Given the description of an element on the screen output the (x, y) to click on. 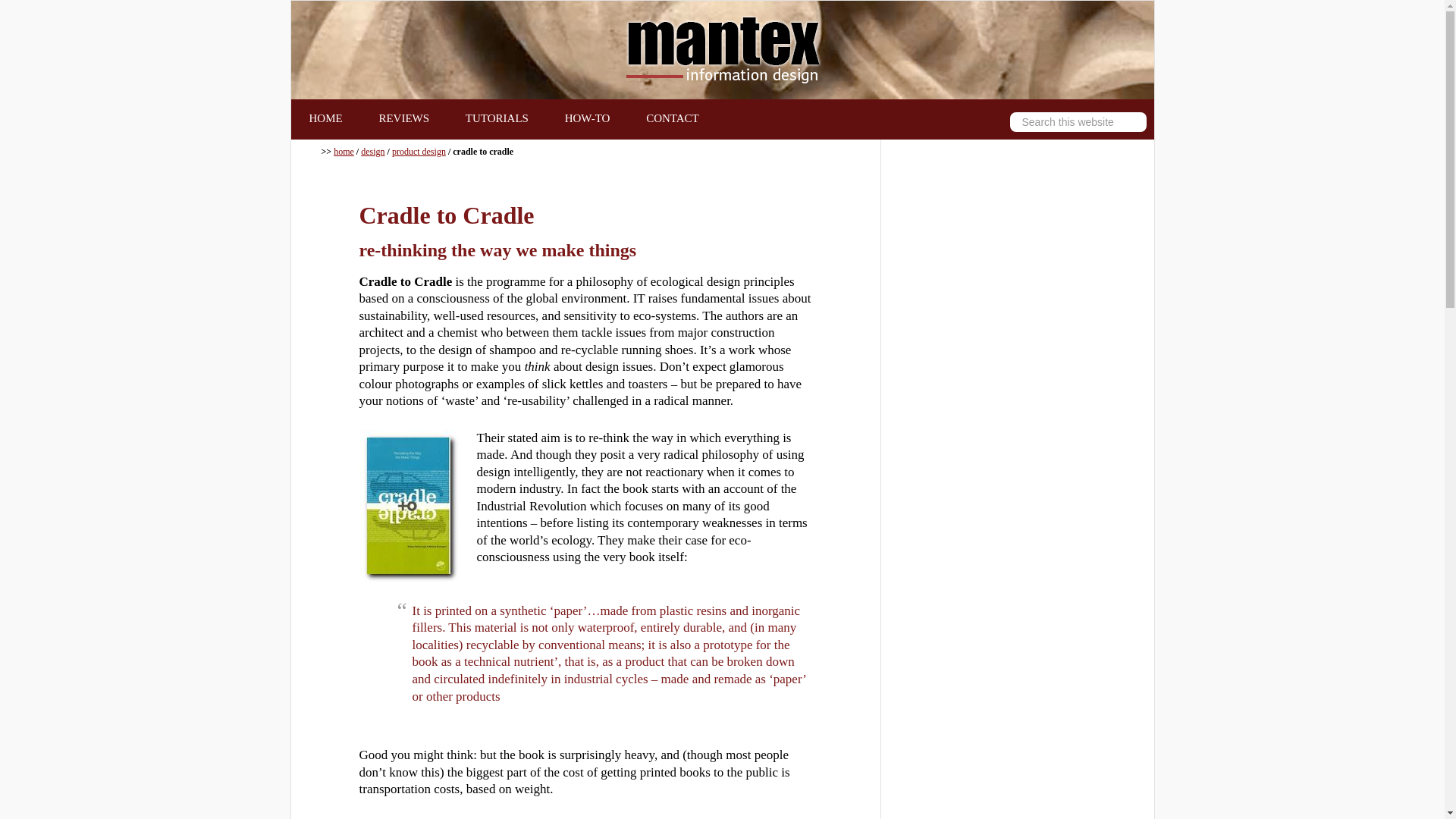
home (343, 151)
REVIEWS (402, 118)
MANTEX (722, 49)
product design (418, 151)
design (372, 151)
TUTORIALS (496, 118)
HOW-TO (587, 118)
HOME (326, 118)
